Given the description of an element on the screen output the (x, y) to click on. 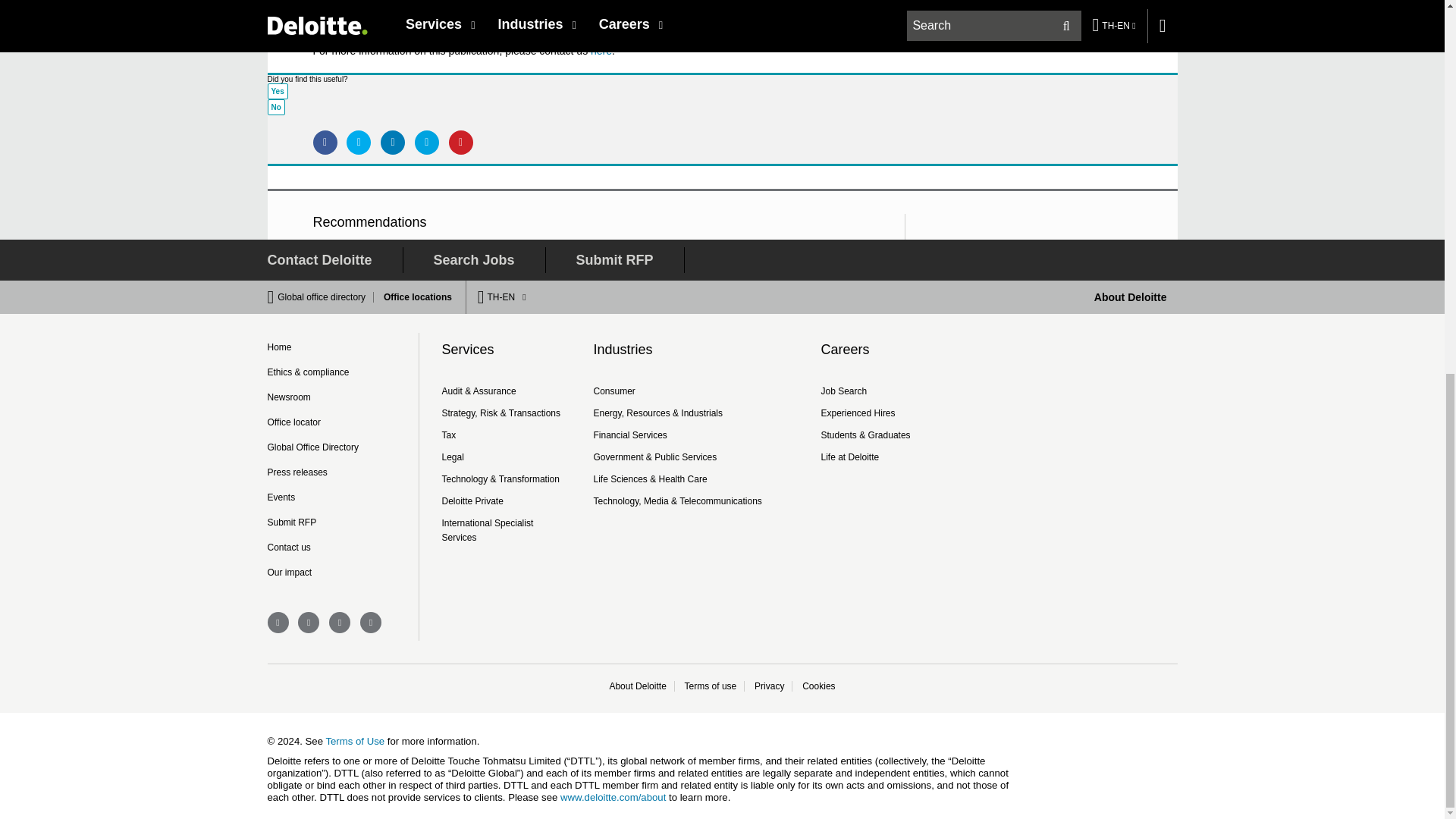
Share via Facebook (324, 142)
Share via Twitter (358, 142)
Global office directory (326, 296)
About Deloitte (1130, 297)
Office locations (413, 296)
Share via Pinterest (460, 142)
Share via LinkedIn (392, 142)
Share via Email (426, 142)
